Given the description of an element on the screen output the (x, y) to click on. 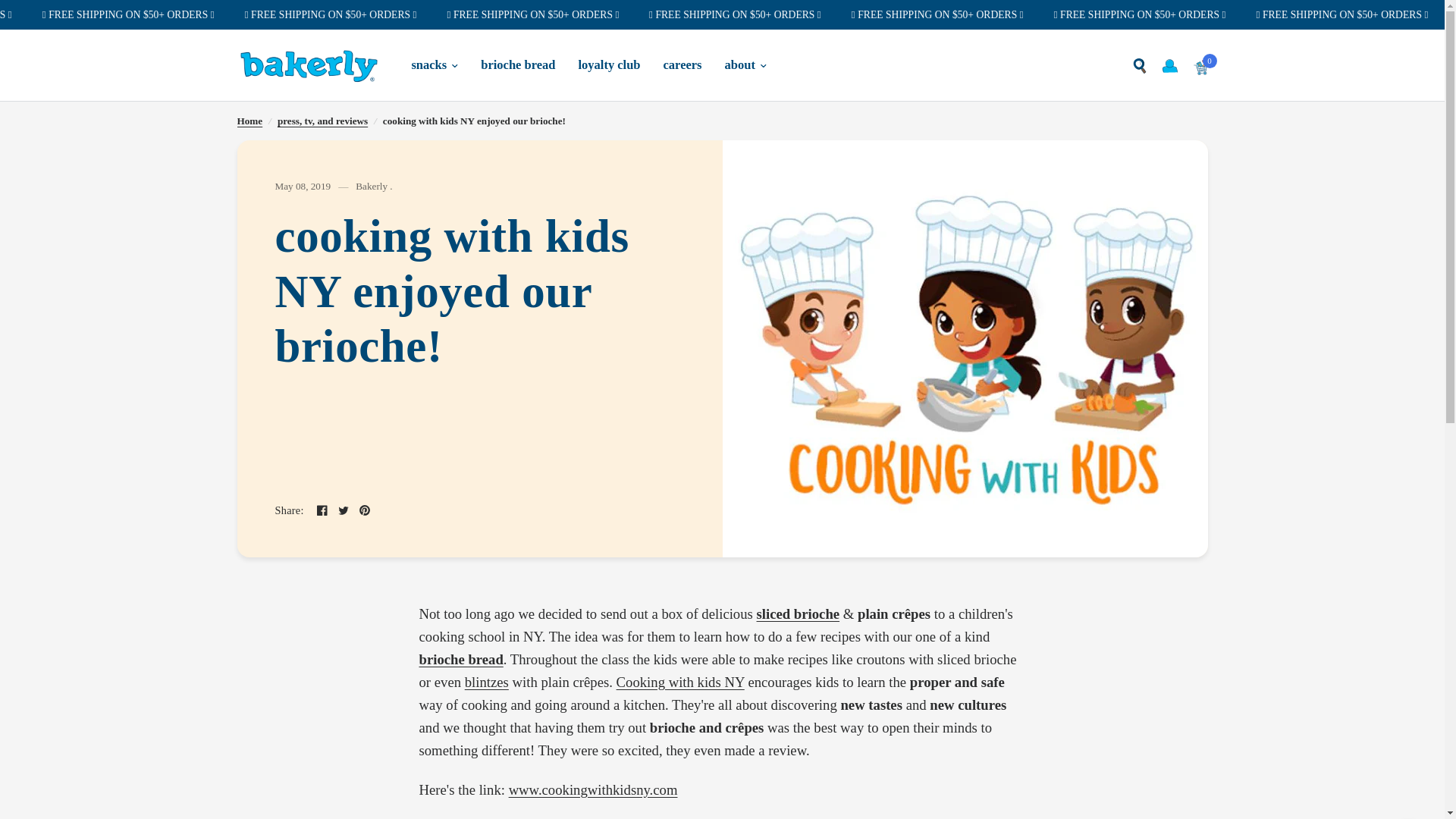
snacks (434, 65)
loyalty club (609, 65)
brioche bread (517, 65)
about (746, 65)
snacks (434, 65)
careers (682, 65)
